Given the description of an element on the screen output the (x, y) to click on. 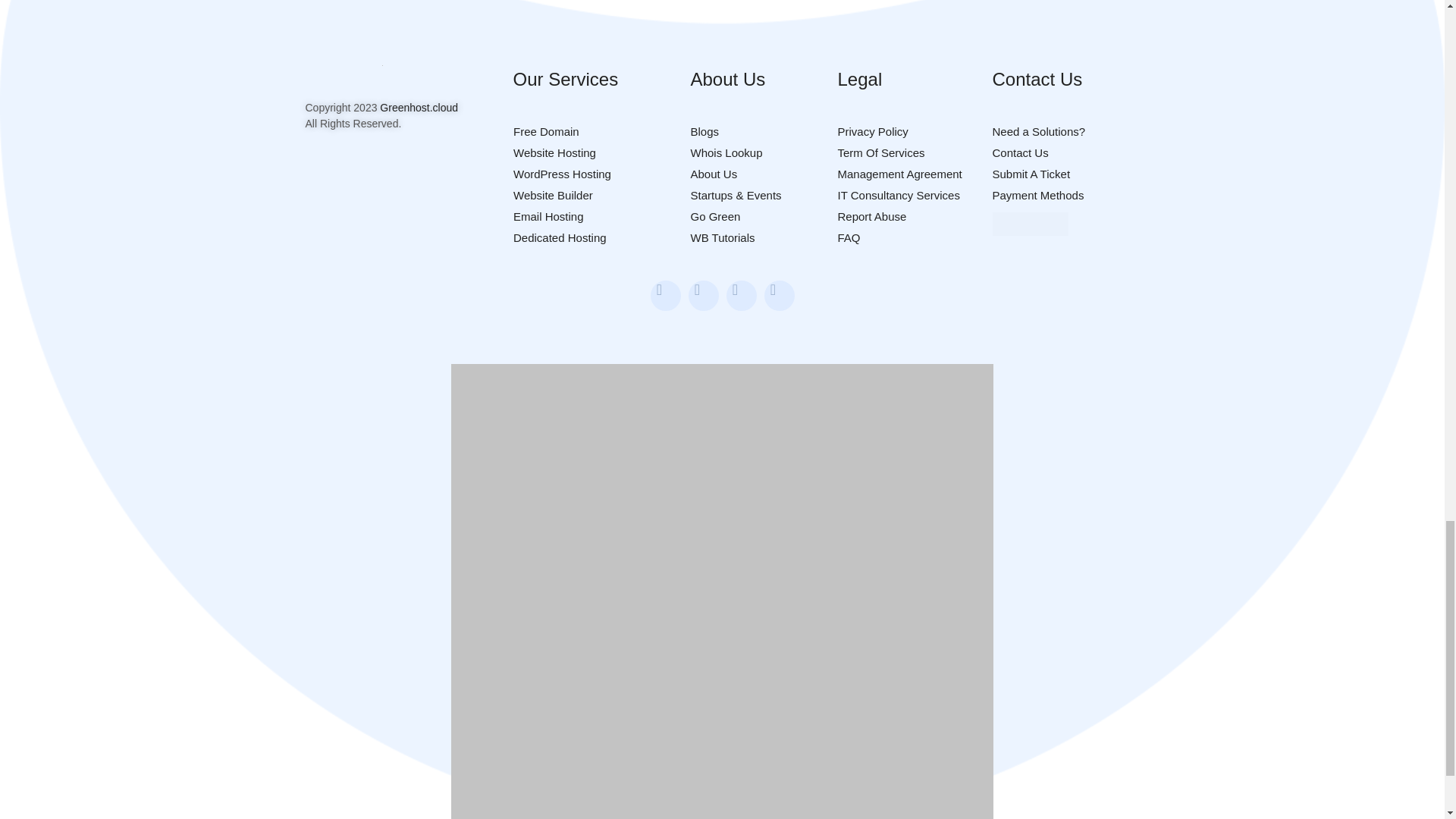
Greenhost.cloud (419, 107)
Customers' reviews - will open in a new tab (1029, 223)
Free Domain (545, 131)
Website Hosting (553, 152)
WordPress Hosting (561, 173)
